Given the description of an element on the screen output the (x, y) to click on. 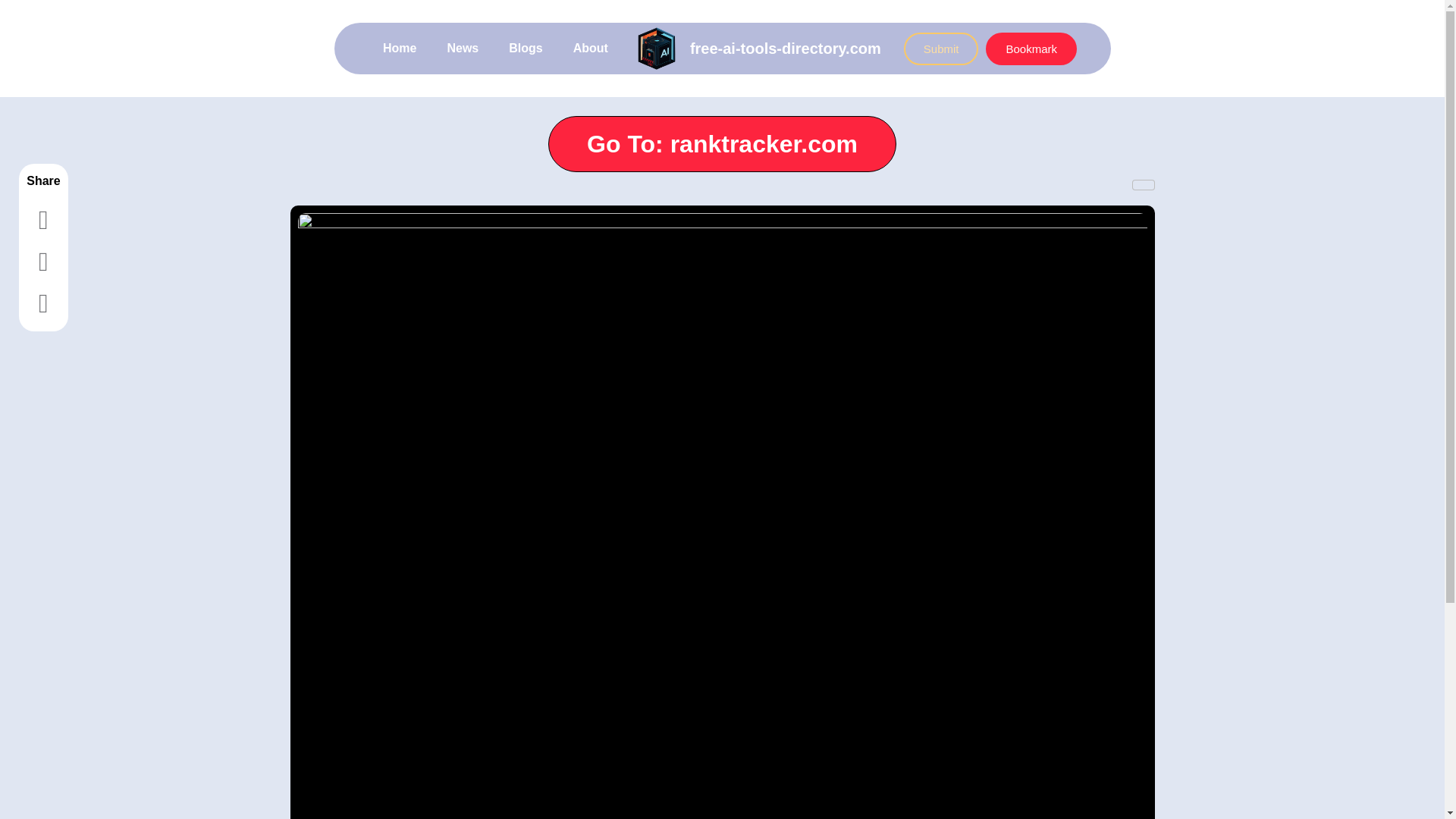
Home (399, 48)
Go To: ranktracker.com (722, 143)
Submit (941, 47)
About (590, 48)
Blogs (525, 48)
free-ai-tools-directory.com (785, 48)
Bookmark (1031, 47)
News (461, 48)
